Given the description of an element on the screen output the (x, y) to click on. 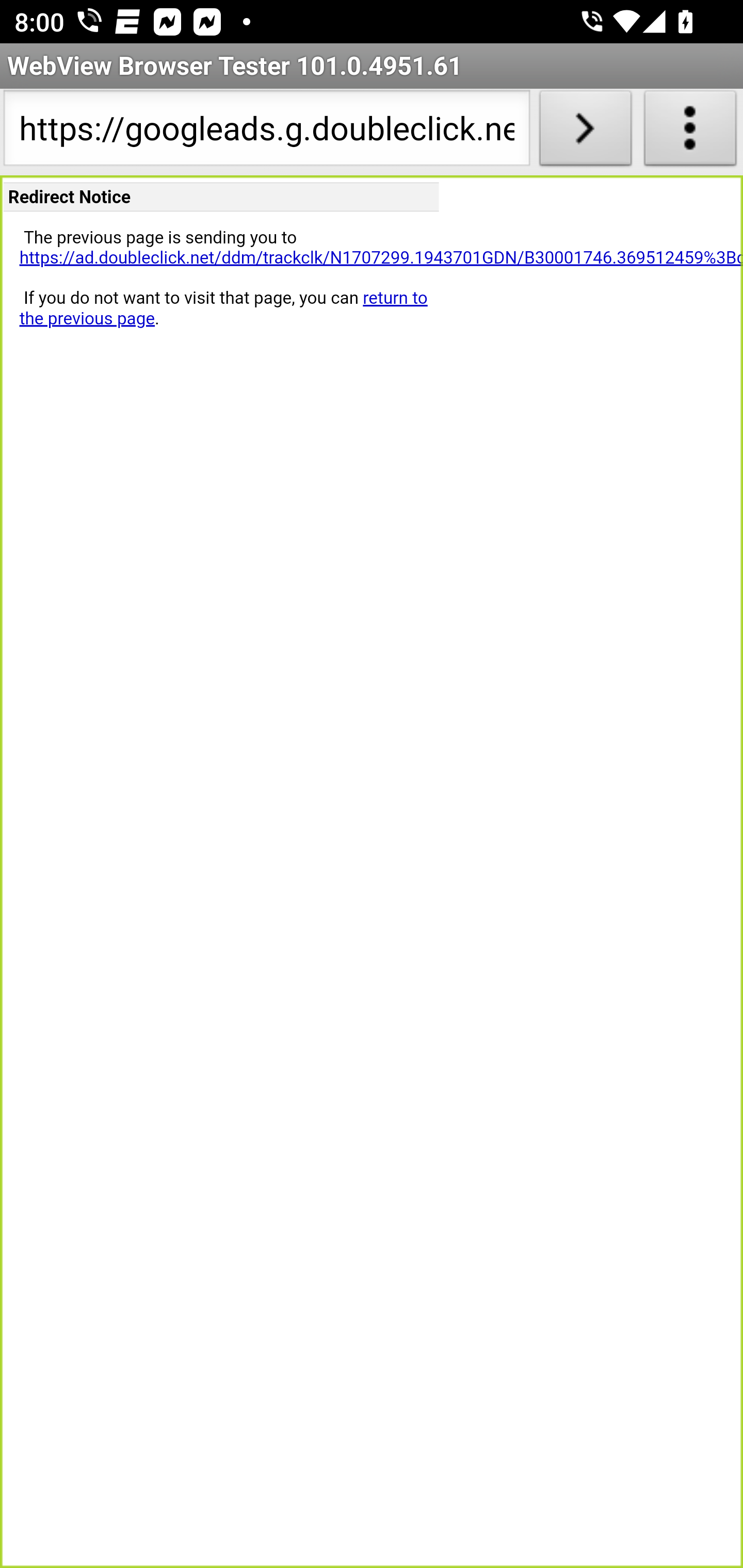
Load URL (585, 132)
About WebView (690, 132)
return to the previous page (222, 307)
